Given the description of an element on the screen output the (x, y) to click on. 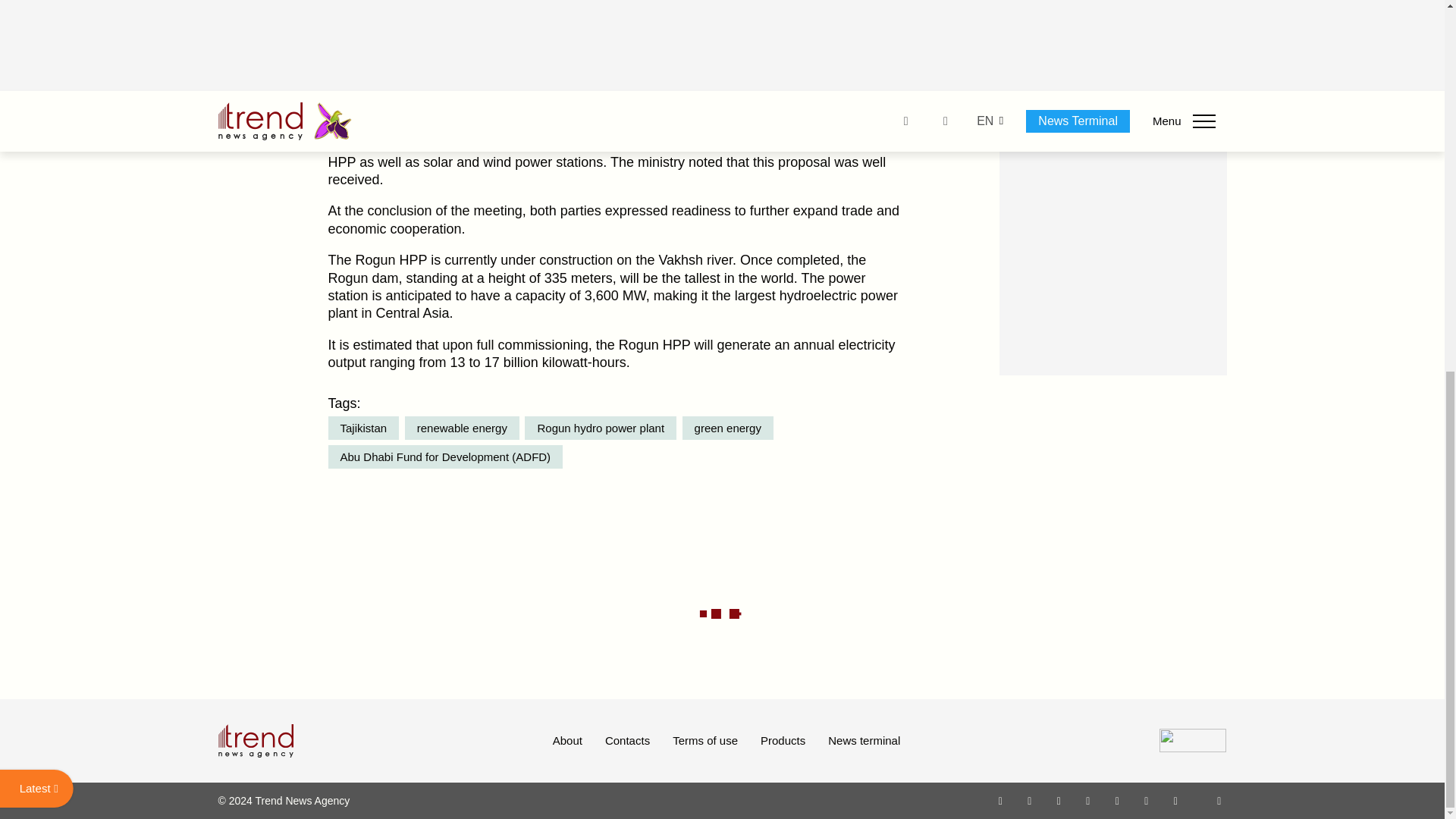
Twitter (1059, 800)
Youtube (1088, 800)
Facebook (1029, 800)
RSS Feed (1219, 800)
LinkedIn (1146, 800)
Android App (1176, 800)
Telegram (1117, 800)
Whatsapp (1000, 800)
